Given the description of an element on the screen output the (x, y) to click on. 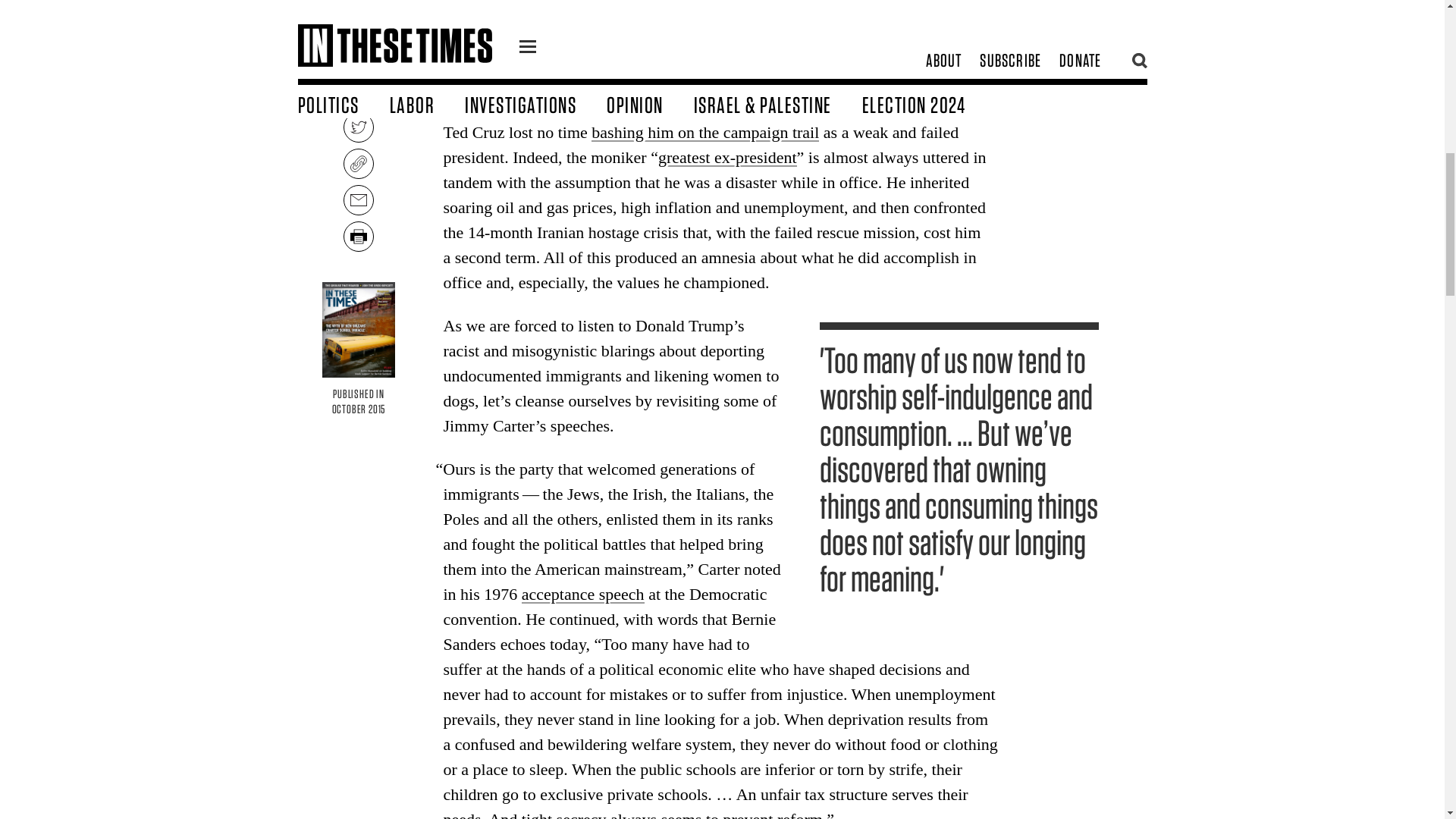
greatest ex-president (727, 157)
acceptance speech (583, 593)
press conference (689, 69)
bashing him on the campaign trail (704, 131)
